Given the description of an element on the screen output the (x, y) to click on. 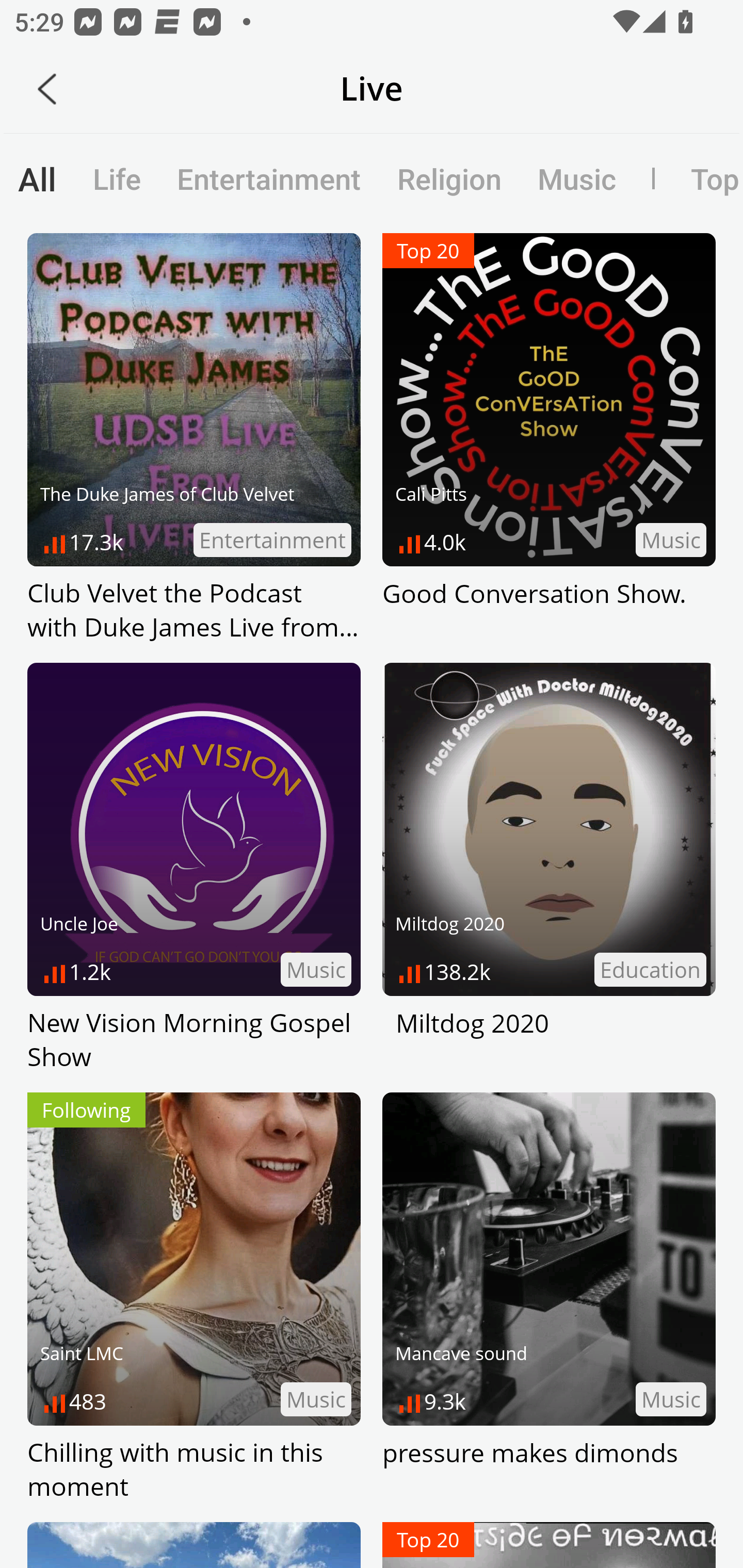
Back (46, 88)
Life (116, 178)
Entertainment (268, 178)
Religion (448, 178)
Music (576, 178)
Miltdog 2020 138.2k Education   Miltdog 2020  (548, 868)
Mancave sound 9.3k Music pressure makes dimonds (548, 1297)
